Given the description of an element on the screen output the (x, y) to click on. 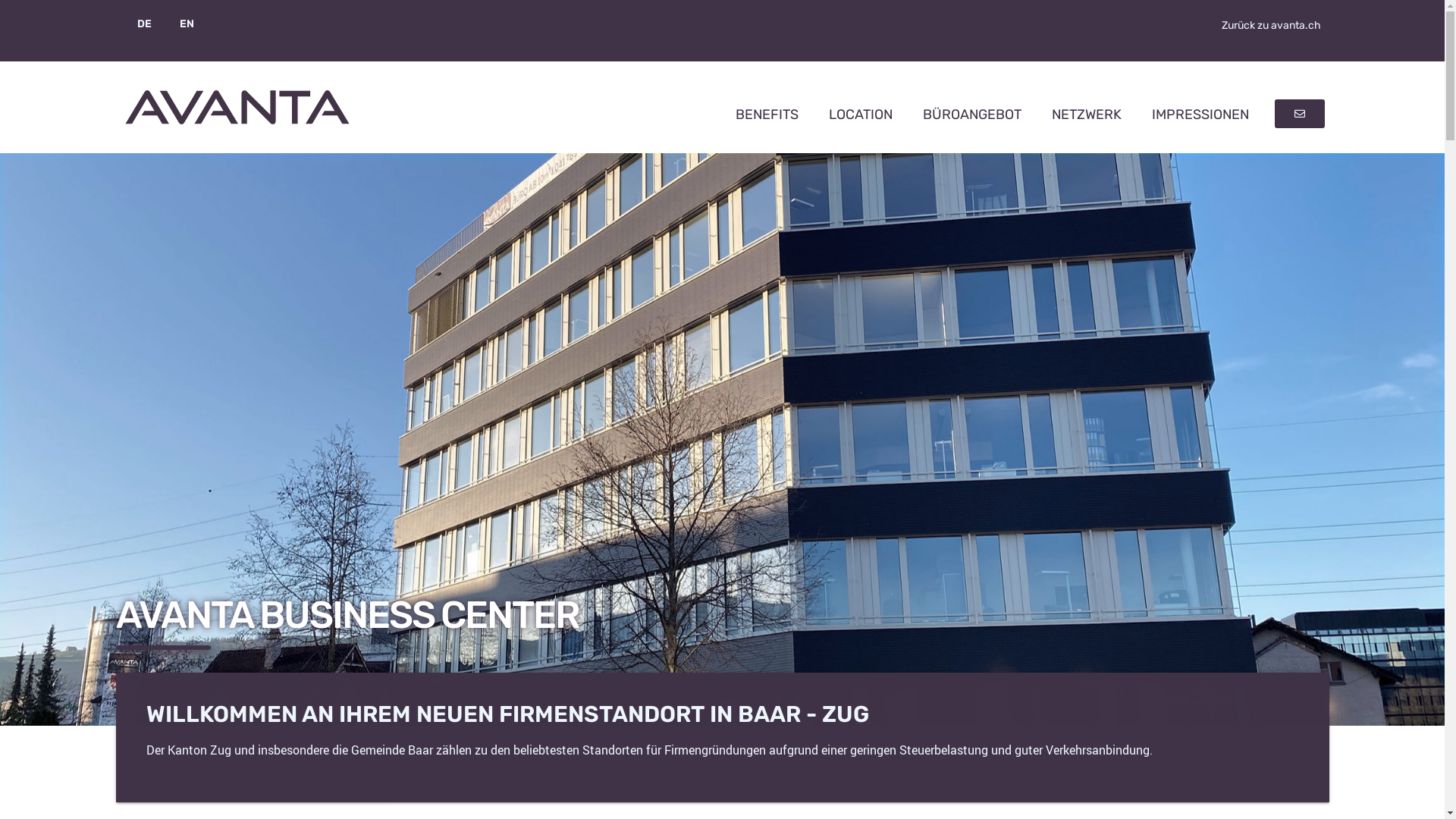
NETZWERK Element type: text (1086, 114)
BENEFITS Element type: text (767, 114)
DE Element type: text (143, 23)
LOCATION Element type: text (860, 114)
IMPRESSIONEN Element type: text (1200, 114)
EN Element type: text (179, 23)
